Given the description of an element on the screen output the (x, y) to click on. 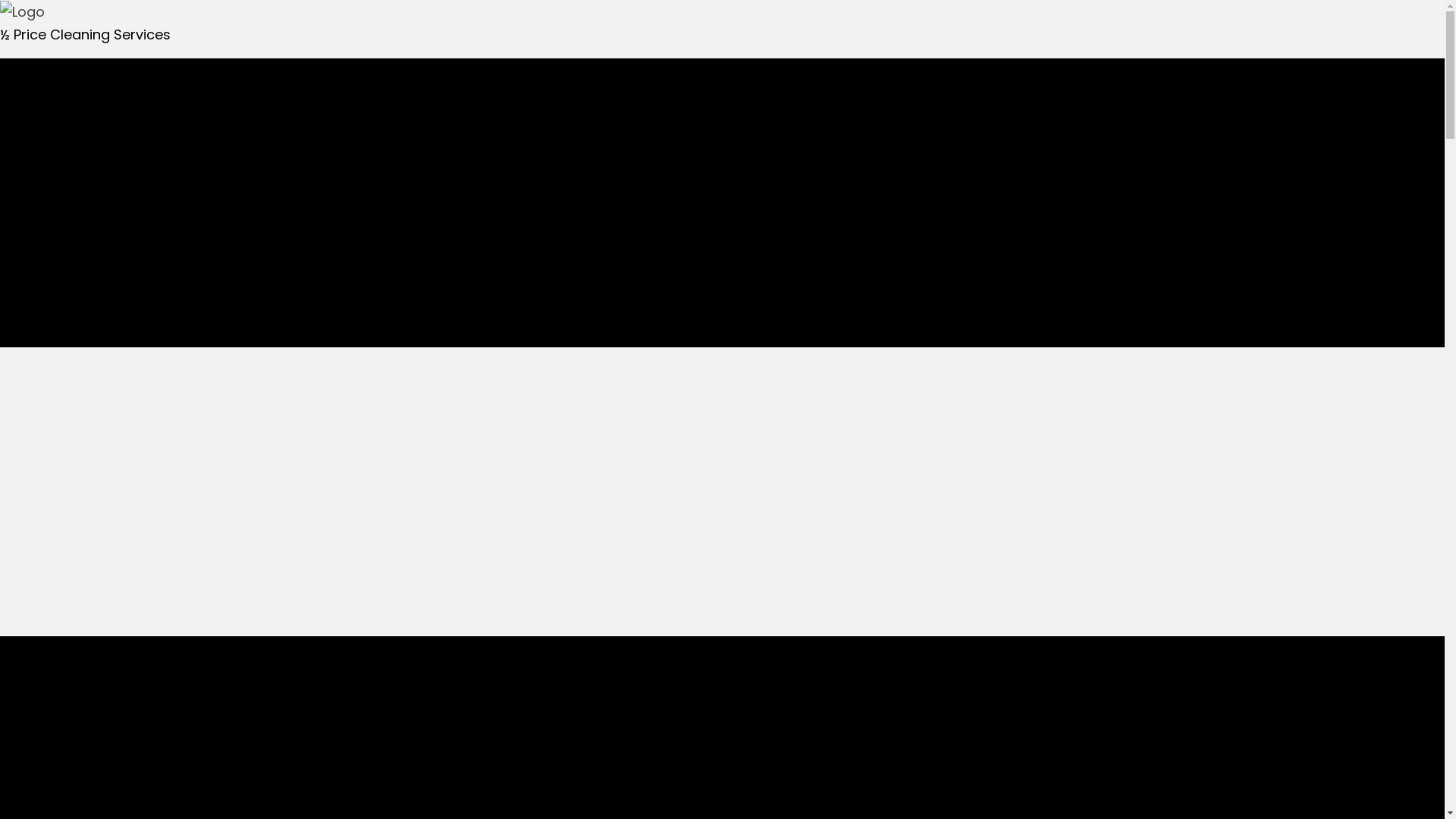
Logo Element type: hover (22, 11)
